Given the description of an element on the screen output the (x, y) to click on. 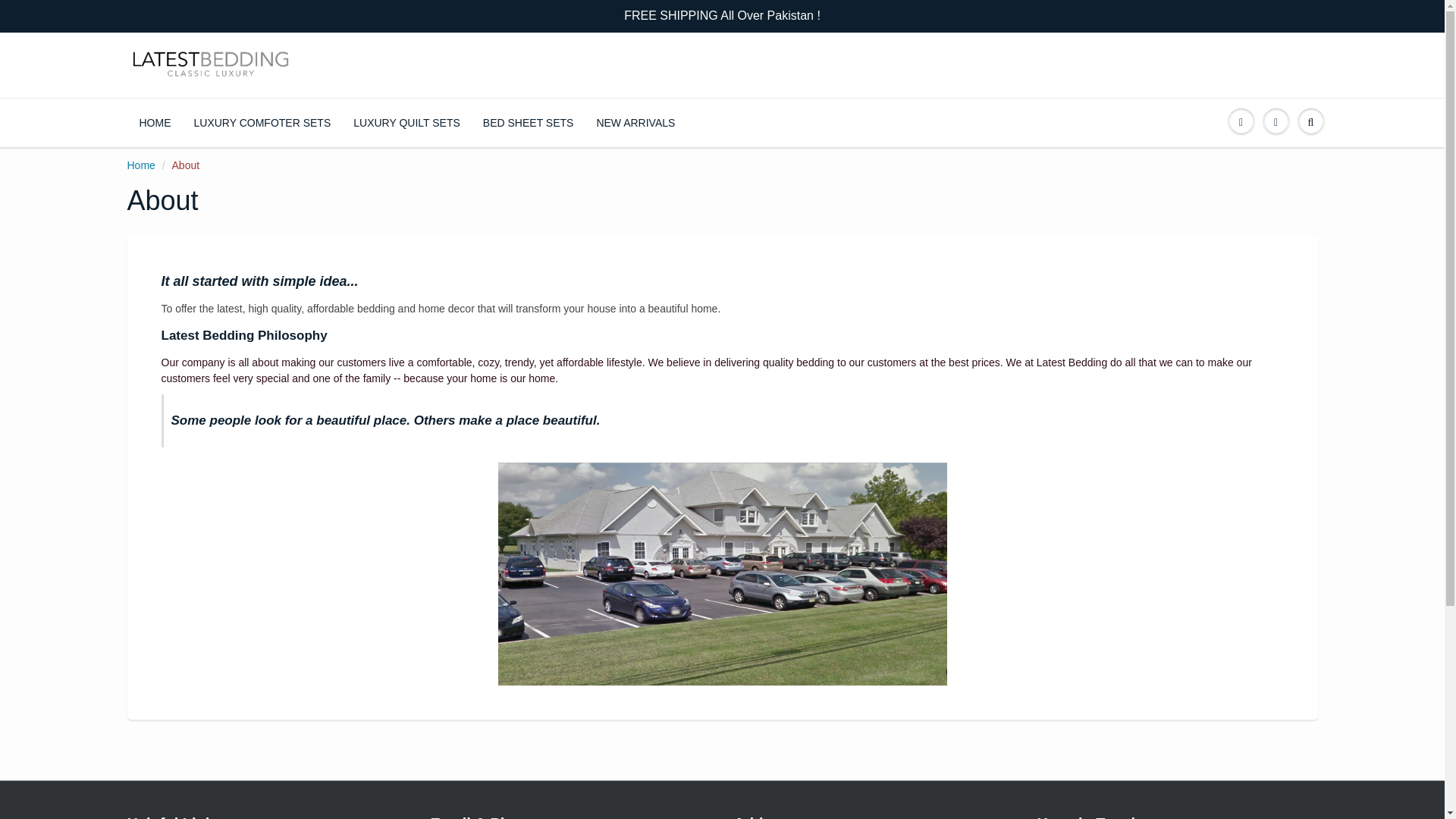
HOME (155, 122)
Home (141, 164)
LUXURY COMFOTER SETS (262, 122)
BED SHEET SETS (528, 122)
NEW ARRIVALS (635, 122)
LUXURY QUILT SETS (406, 122)
Home (141, 164)
